Given the description of an element on the screen output the (x, y) to click on. 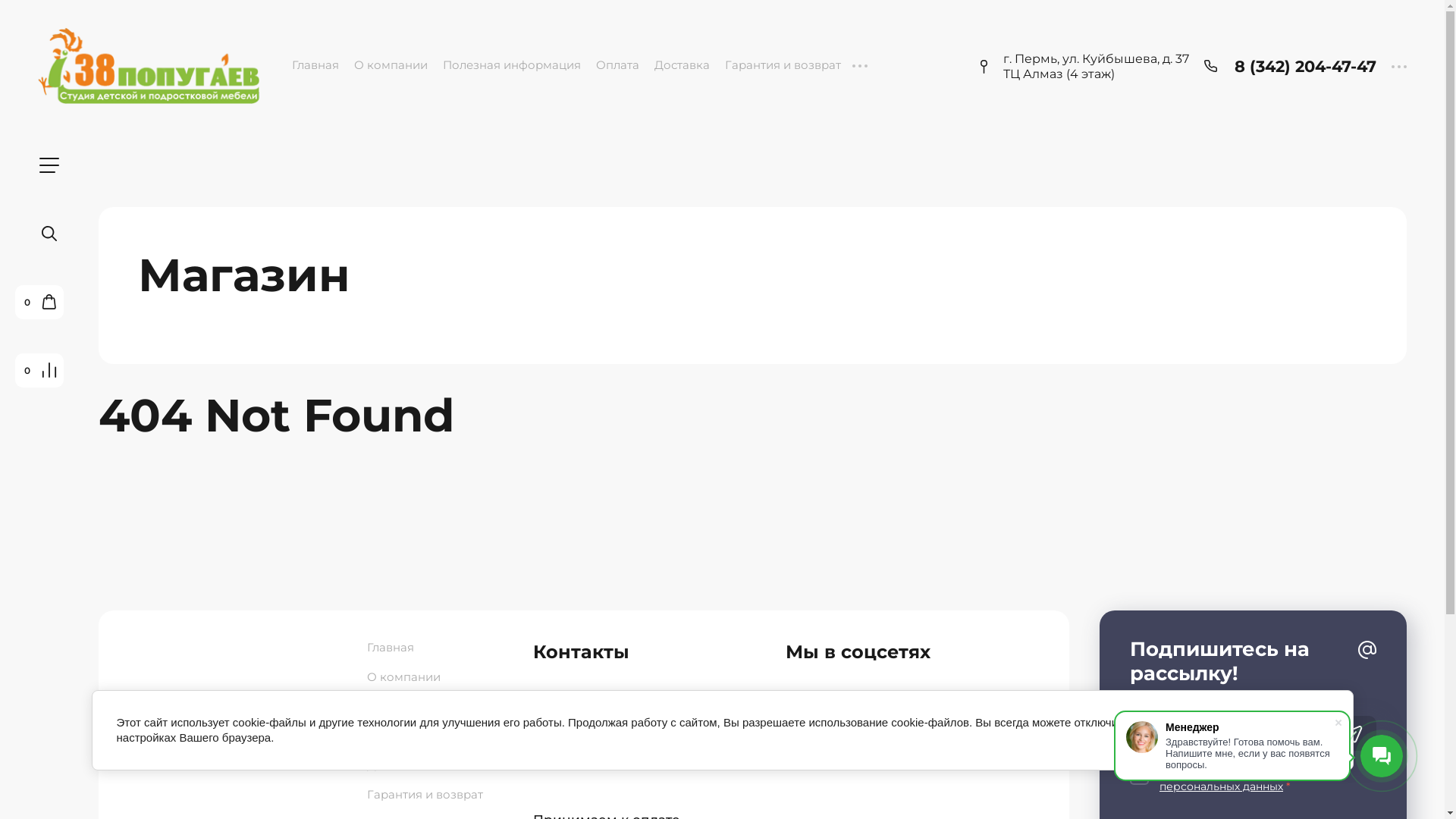
0 Element type: text (49, 369)
8 (342) 204-47-47 Element type: text (1305, 66)
8 (342) 204-47-47 Element type: text (625, 704)
... Element type: text (859, 65)
